Given the description of an element on the screen output the (x, y) to click on. 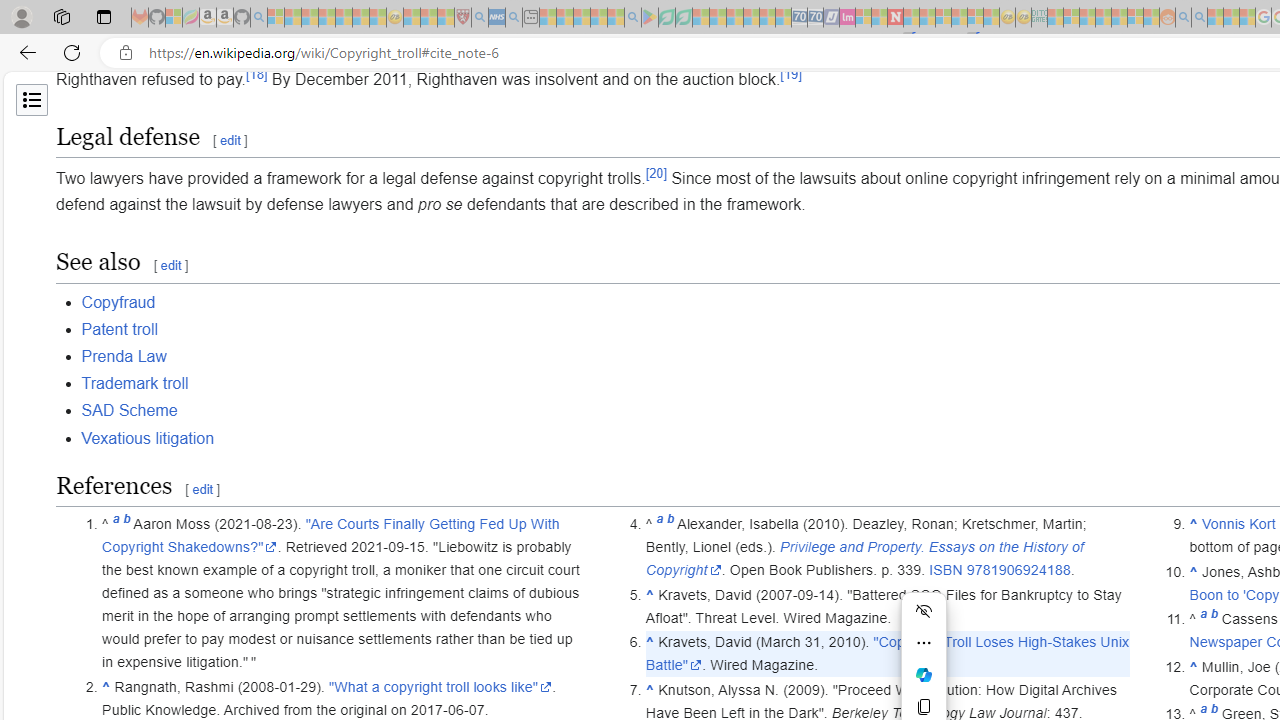
More actions (923, 642)
Jobs - lastminute.com Investor Portal - Sleeping (847, 17)
"Copyright Troll Loses High-Stakes Unix Battle" (887, 653)
